Given the description of an element on the screen output the (x, y) to click on. 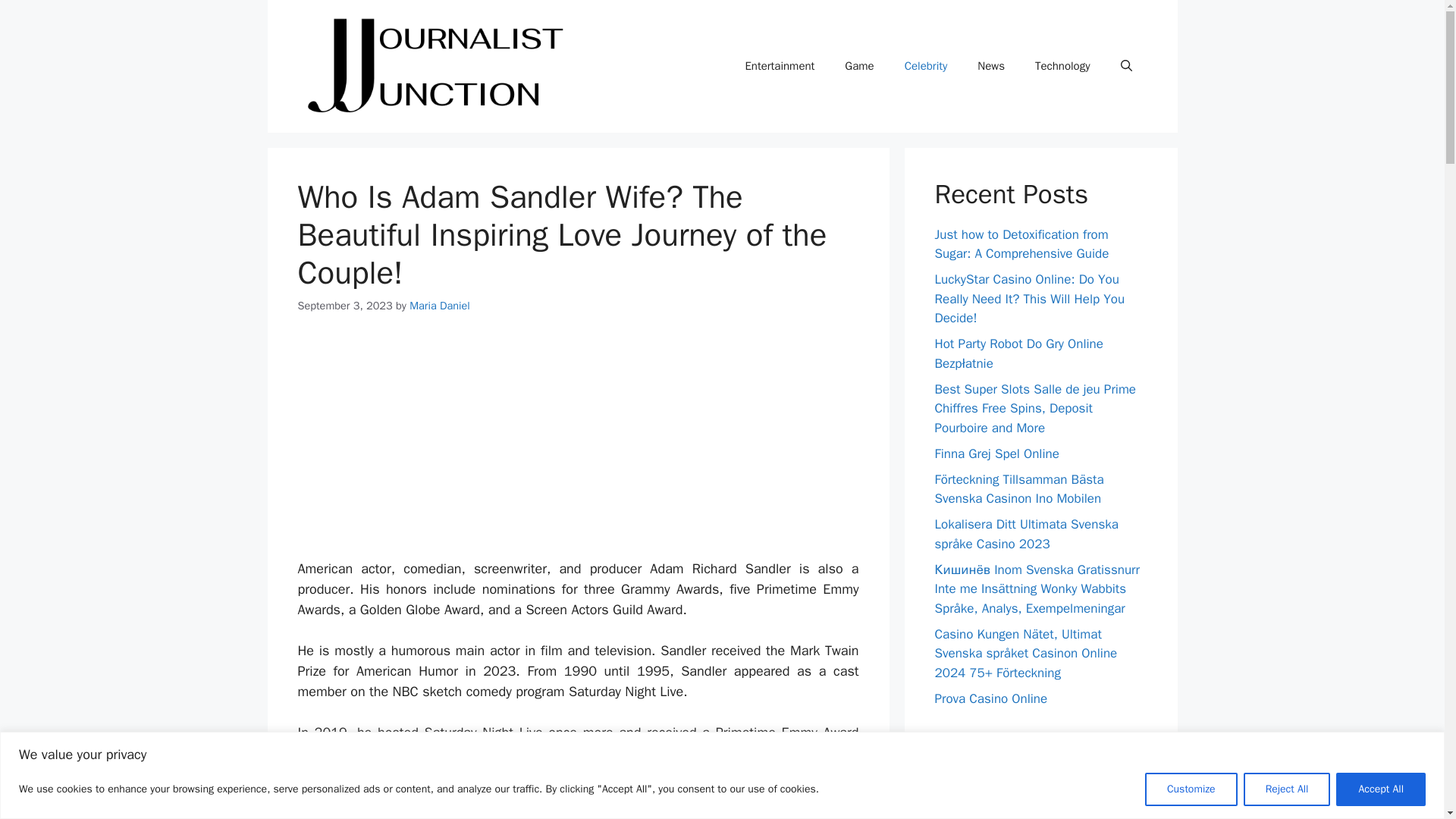
Celebrity (925, 65)
Entertainment (779, 65)
News (991, 65)
Technology (1062, 65)
Customize (1190, 788)
Game (858, 65)
Accept All (1380, 788)
Reject All (1286, 788)
Maria Daniel (439, 305)
View all posts by Maria Daniel (439, 305)
